Given the description of an element on the screen output the (x, y) to click on. 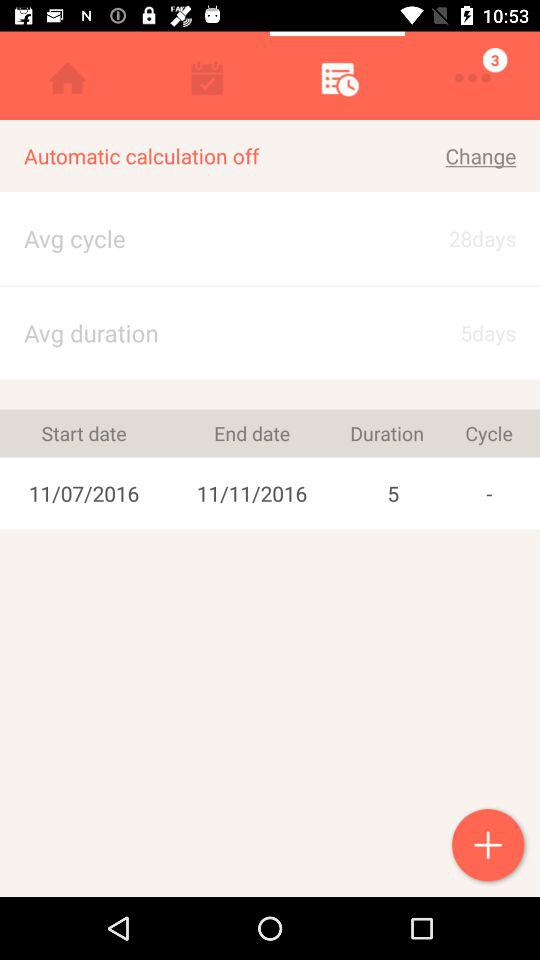
flip until the - icon (488, 493)
